Given the description of an element on the screen output the (x, y) to click on. 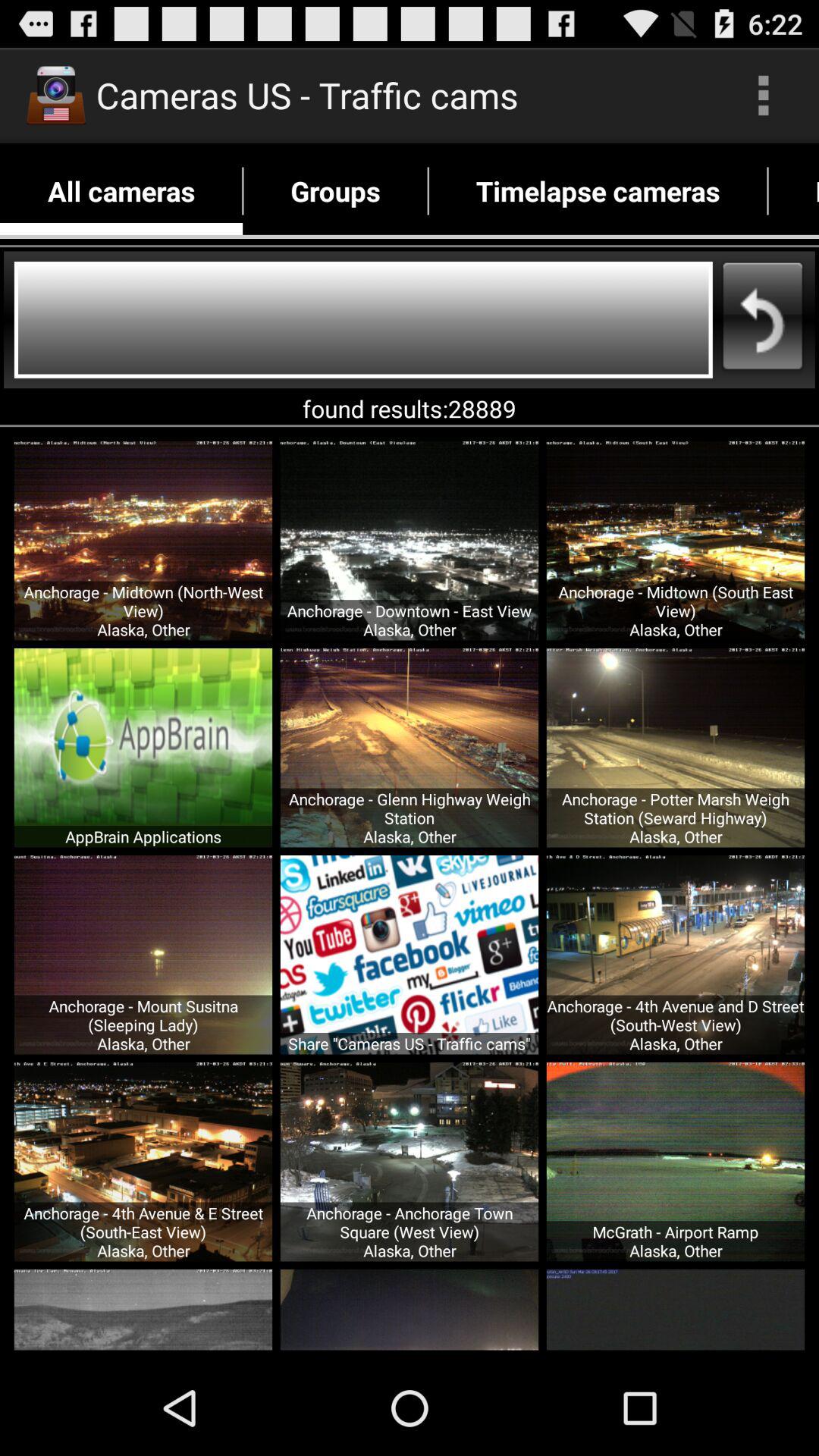
scroll until the appbrain applications item (143, 836)
